Given the description of an element on the screen output the (x, y) to click on. 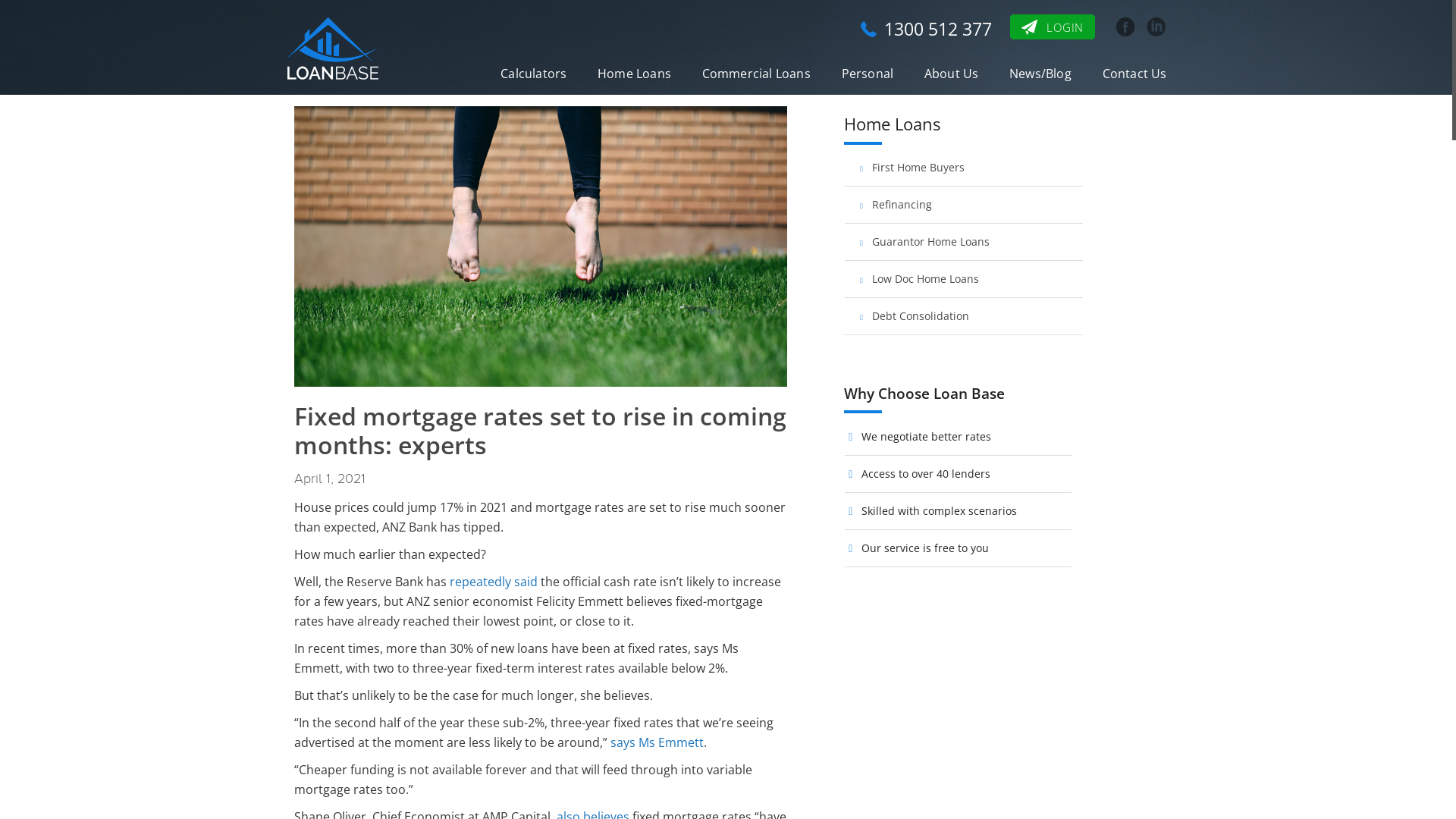
First Home Buyers Element type: text (963, 167)
Refinancing Element type: text (963, 204)
Personal Element type: text (867, 73)
Calculators Element type: text (533, 73)
About Us Element type: text (951, 73)
Debt Consolidation Element type: text (963, 316)
Low Doc Home Loans Element type: text (963, 279)
News/Blog Element type: text (1040, 73)
Guarantor Home Loans Element type: text (963, 241)
Contact Us Element type: text (1134, 73)
repeatedly said Element type: text (492, 581)
1300 512 377 Element type: text (925, 28)
Commercial Loans Element type: text (756, 73)
LOGIN Element type: text (1052, 26)
says Ms Emmett Element type: text (655, 742)
Home Loans Element type: text (634, 73)
